Given the description of an element on the screen output the (x, y) to click on. 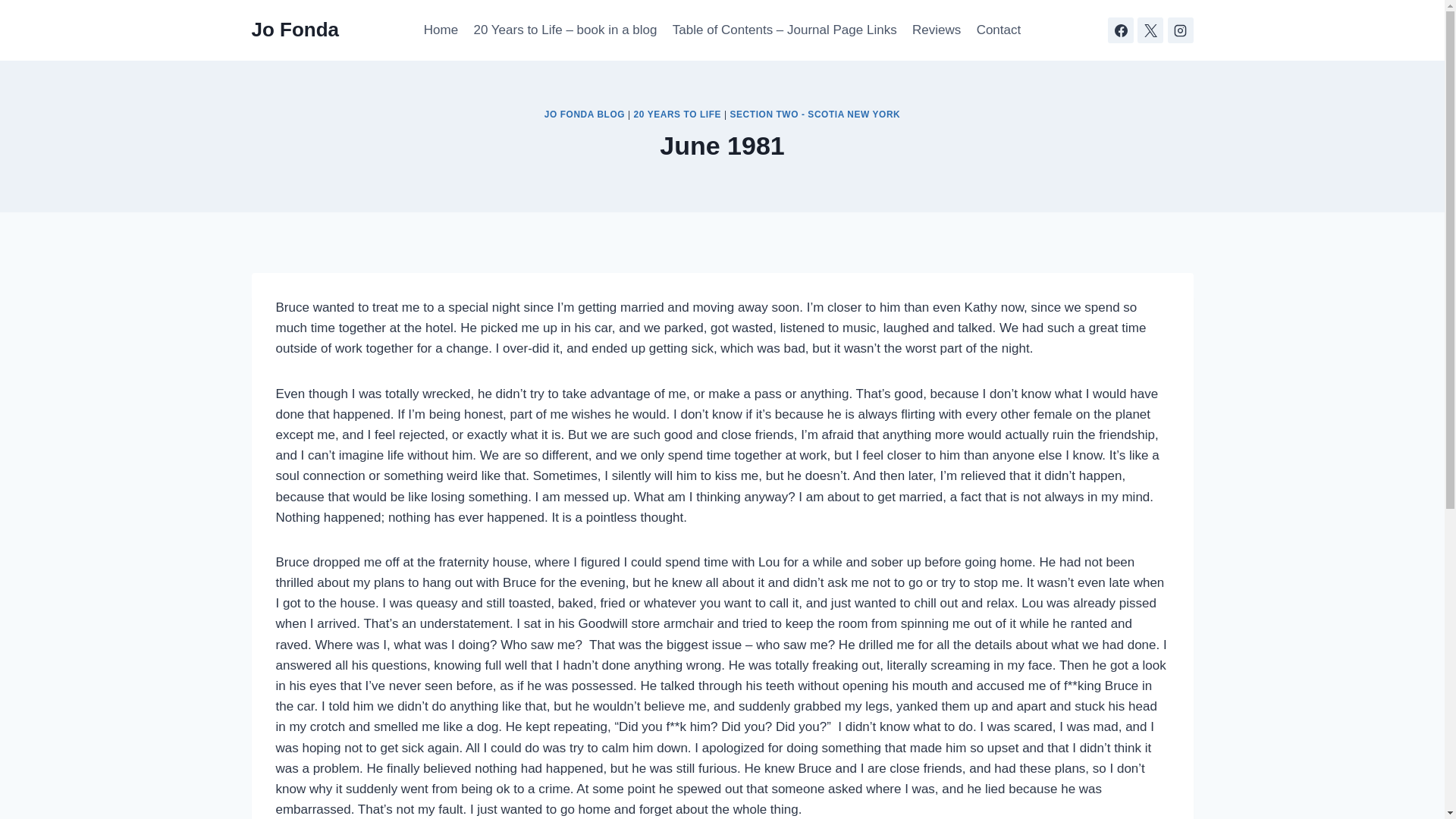
Reviews (936, 30)
Contact (997, 30)
Jo Fonda (295, 29)
JO FONDA BLOG (584, 113)
20 YEARS TO LIFE (676, 113)
SECTION TWO - SCOTIA NEW YORK (815, 113)
Home (440, 30)
